Given the description of an element on the screen output the (x, y) to click on. 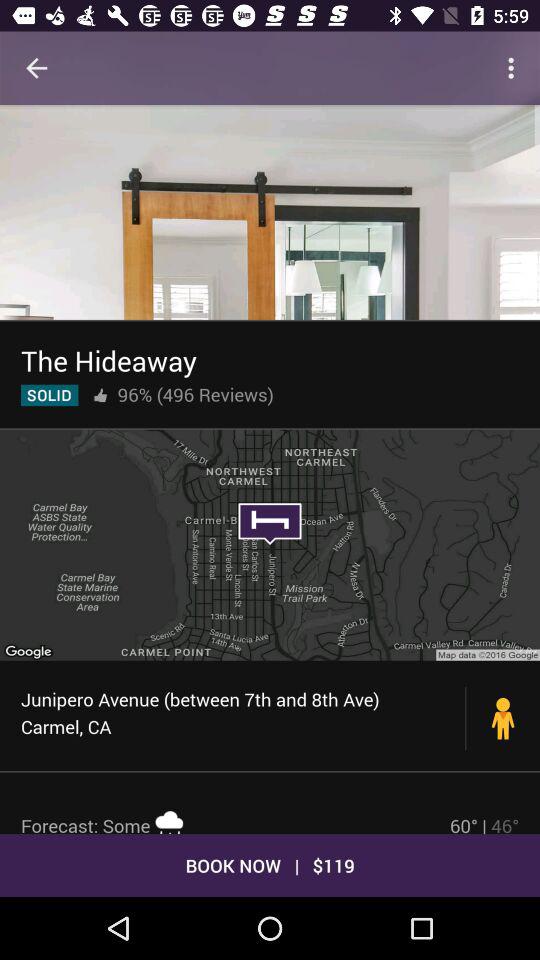
open icon below the the hideaway item (100, 395)
